Given the description of an element on the screen output the (x, y) to click on. 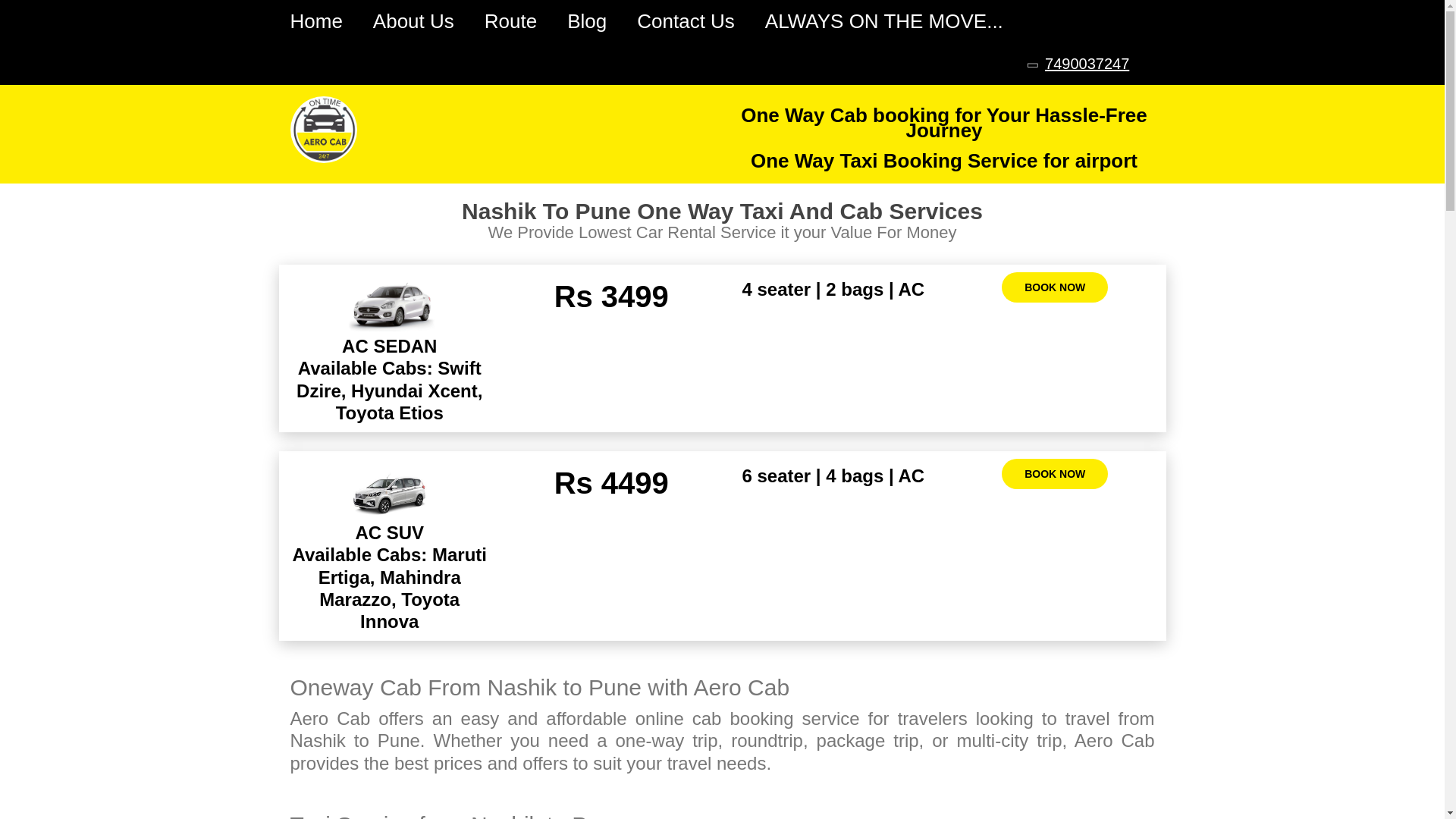
ALWAYS ON THE MOVE... (884, 21)
Contact Us (686, 21)
BOOK NOW (1054, 286)
India's Leading One Way Cab and Round trip Service Provider. (322, 129)
Route (510, 21)
About Us (413, 21)
7490037247 (1082, 63)
Home (315, 21)
Blog (587, 21)
BOOK NOW (1054, 473)
